Given the description of an element on the screen output the (x, y) to click on. 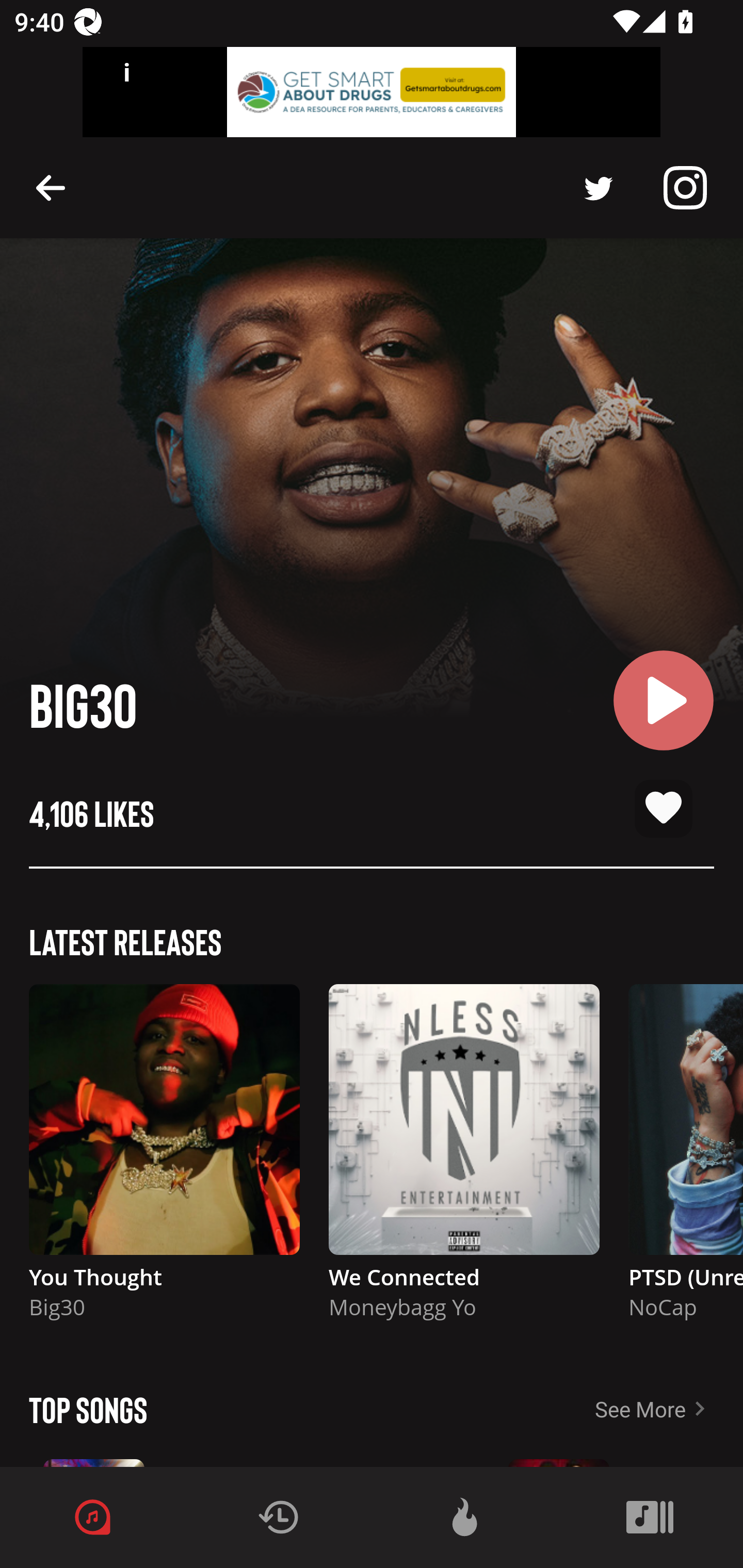
Description (50, 187)
Description (598, 188)
Description (684, 188)
Description You Thought Big30 (164, 1159)
Description We Connected Moneybagg Yo (463, 1159)
See More (668, 1408)
